Given the description of an element on the screen output the (x, y) to click on. 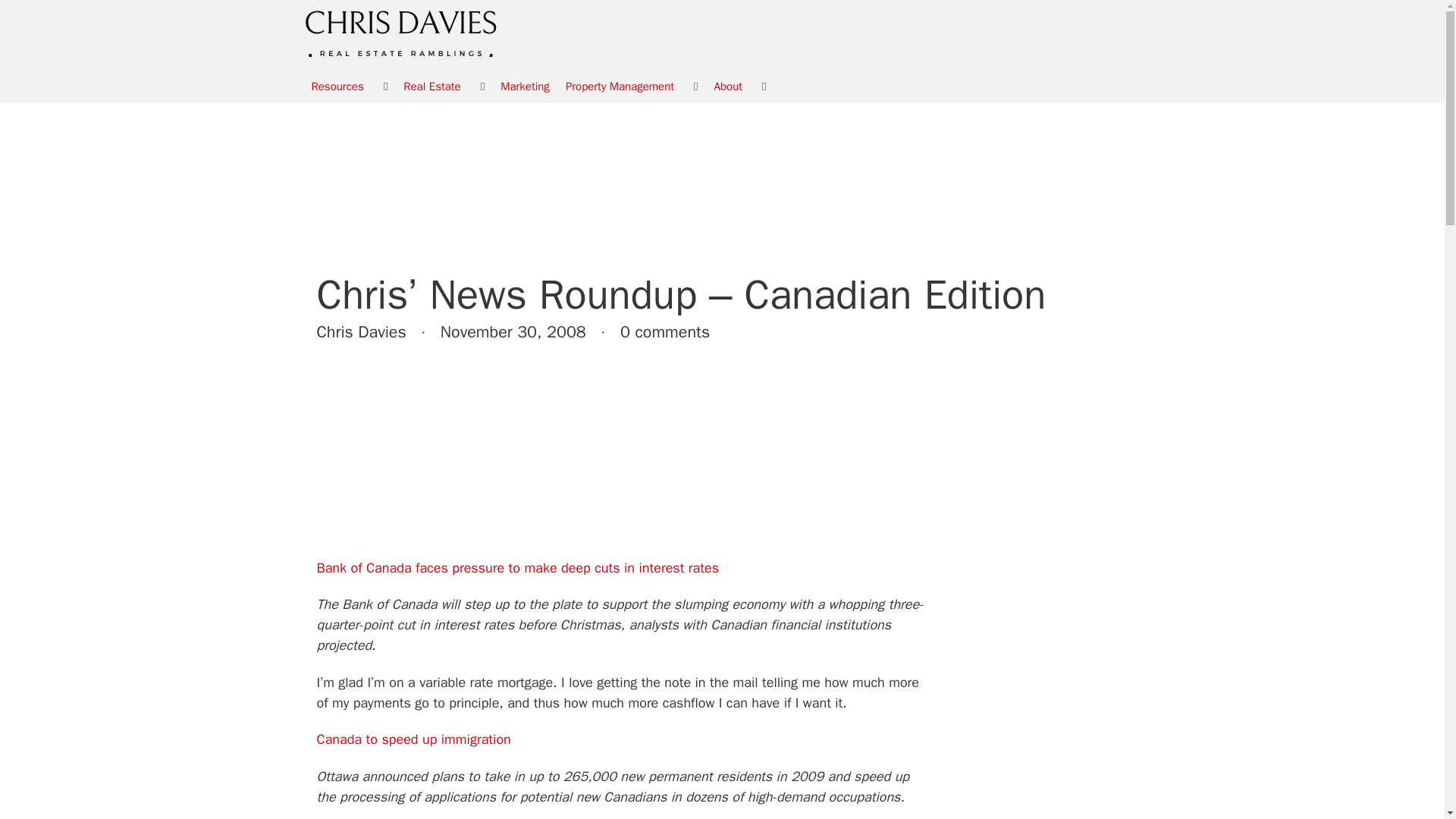
Marketing (525, 86)
Canada to speed up immigration (414, 739)
Resources (336, 86)
About (727, 86)
Property Management (619, 86)
Real Estate (431, 86)
